Given the description of an element on the screen output the (x, y) to click on. 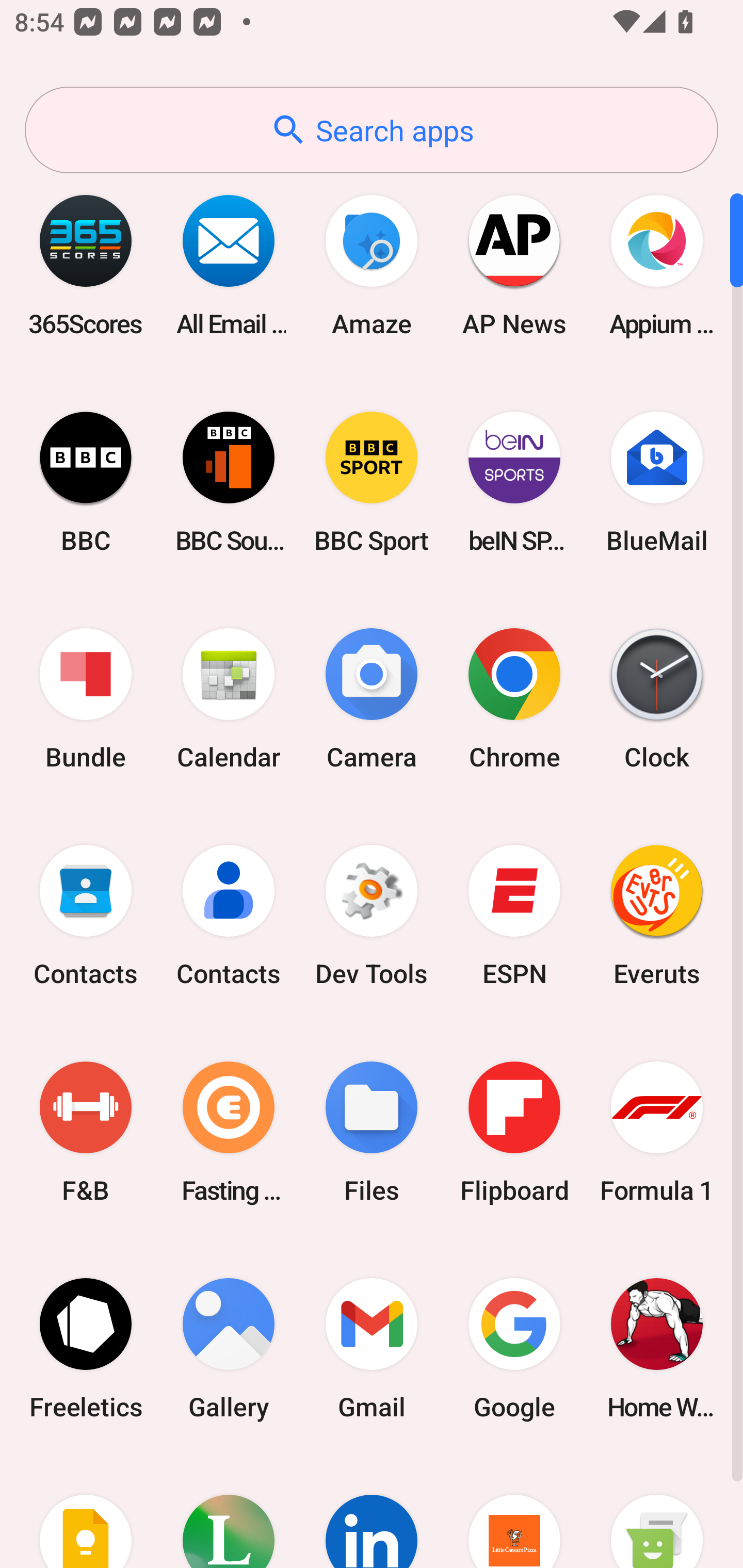
  Search apps (371, 130)
365Scores (85, 264)
All Email Connect (228, 264)
Amaze (371, 264)
AP News (514, 264)
Appium Settings (656, 264)
BBC (85, 482)
BBC Sounds (228, 482)
BBC Sport (371, 482)
beIN SPORTS (514, 482)
BlueMail (656, 482)
Bundle (85, 699)
Calendar (228, 699)
Camera (371, 699)
Chrome (514, 699)
Clock (656, 699)
Contacts (85, 915)
Contacts (228, 915)
Dev Tools (371, 915)
ESPN (514, 915)
Everuts (656, 915)
F&B (85, 1131)
Fasting Coach (228, 1131)
Files (371, 1131)
Flipboard (514, 1131)
Formula 1 (656, 1131)
Freeletics (85, 1348)
Gallery (228, 1348)
Gmail (371, 1348)
Google (514, 1348)
Home Workout (656, 1348)
Keep Notes (85, 1512)
Lifesum (228, 1512)
LinkedIn (371, 1512)
Little Caesars Pizza (514, 1512)
Messaging (656, 1512)
